Given the description of an element on the screen output the (x, y) to click on. 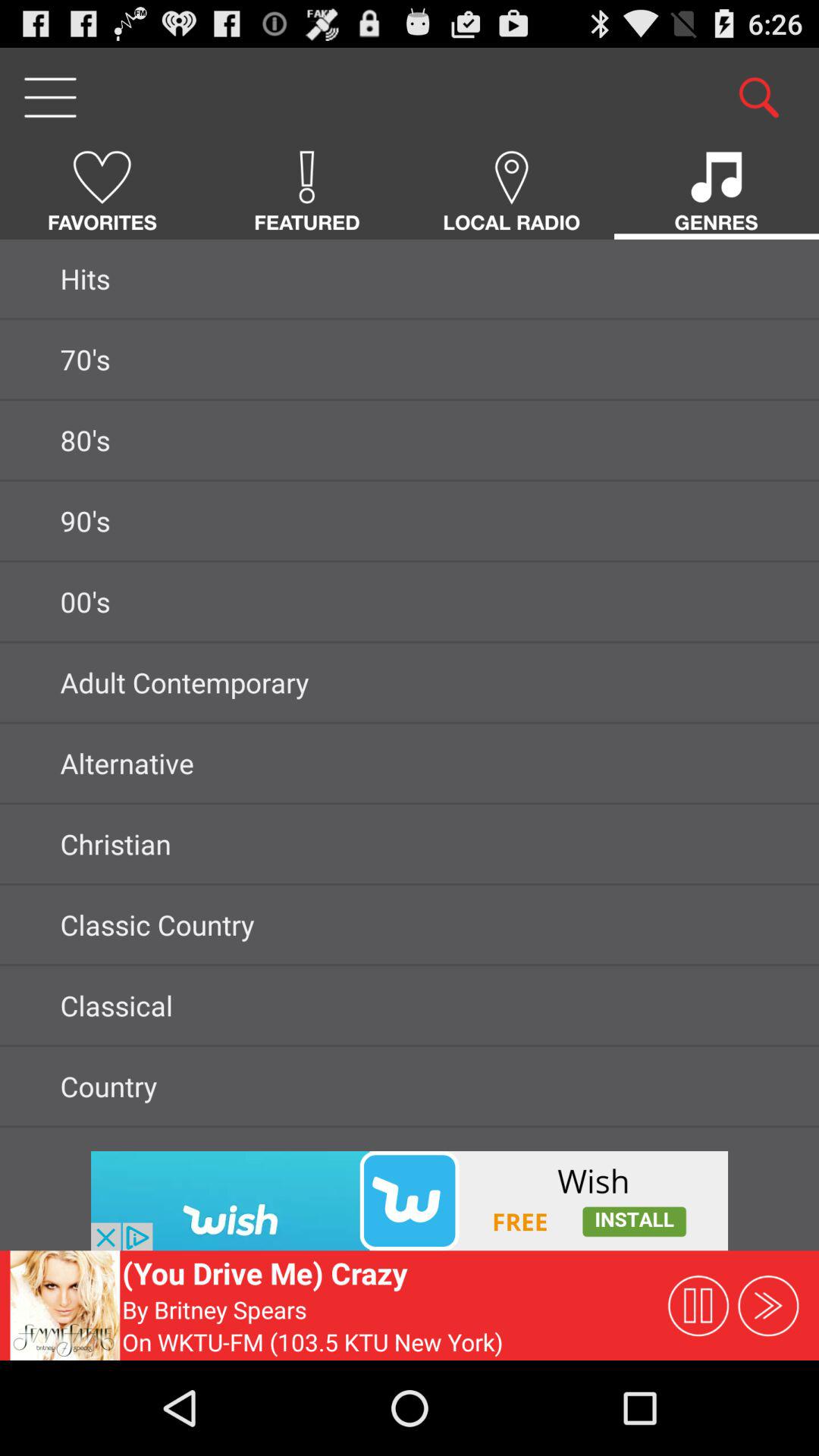
select imge (409, 1200)
